Given the description of an element on the screen output the (x, y) to click on. 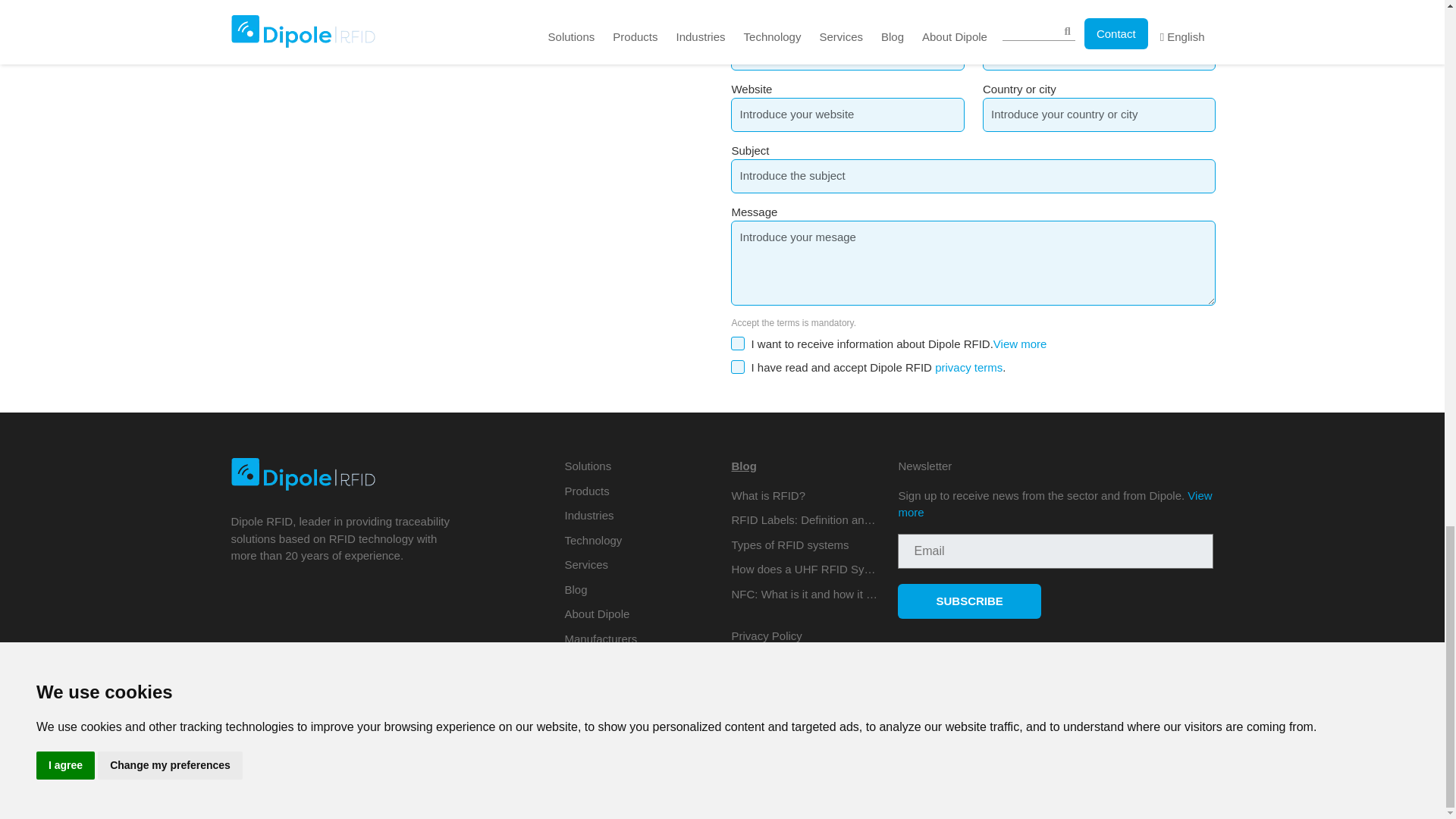
Dipole RFID (302, 473)
